Given the description of an element on the screen output the (x, y) to click on. 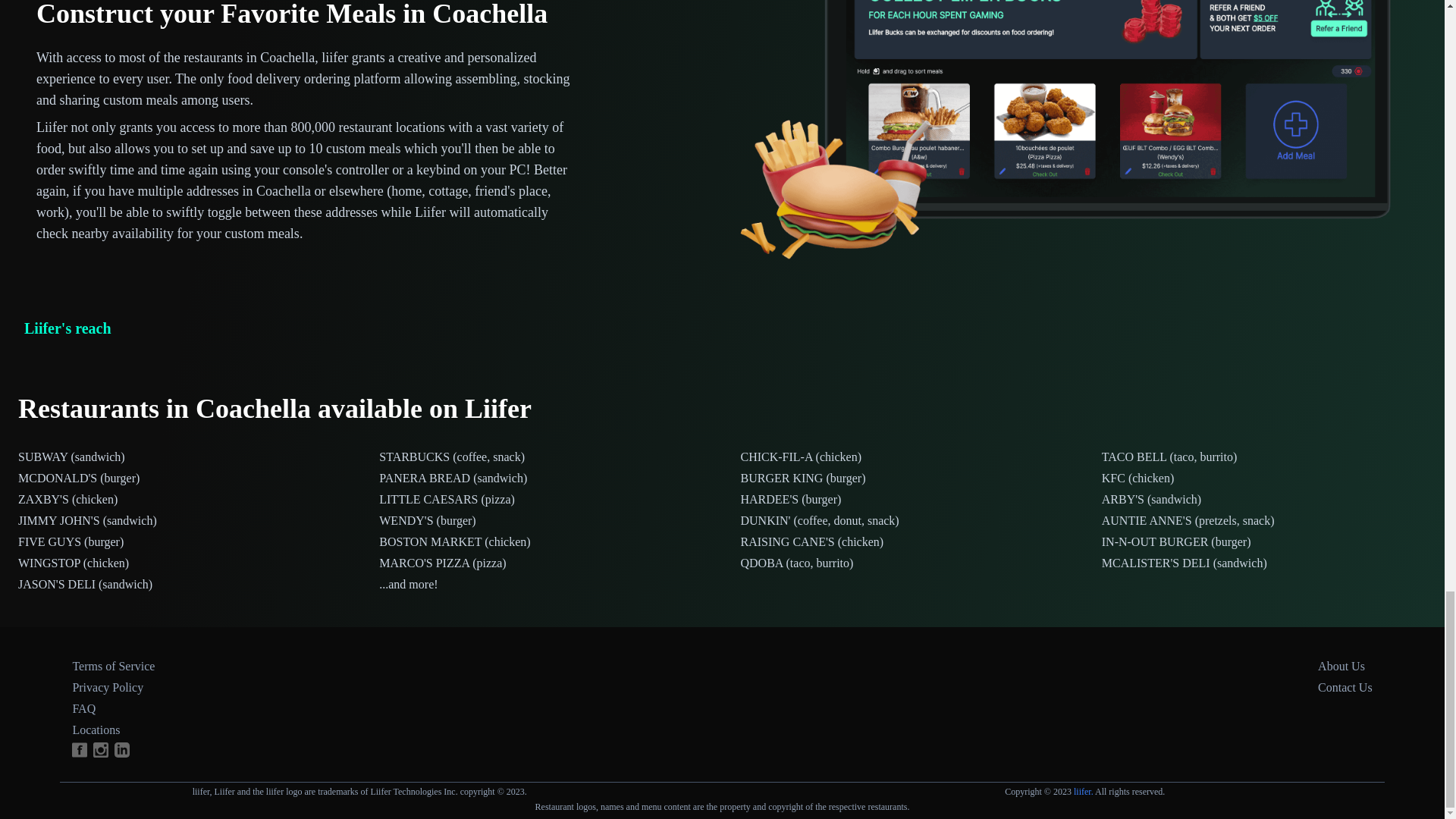
FAQ (83, 707)
About Us (1341, 666)
Locations (95, 729)
Terms of Service (112, 666)
Contact Us (1345, 686)
Privacy Policy (106, 686)
